Given the description of an element on the screen output the (x, y) to click on. 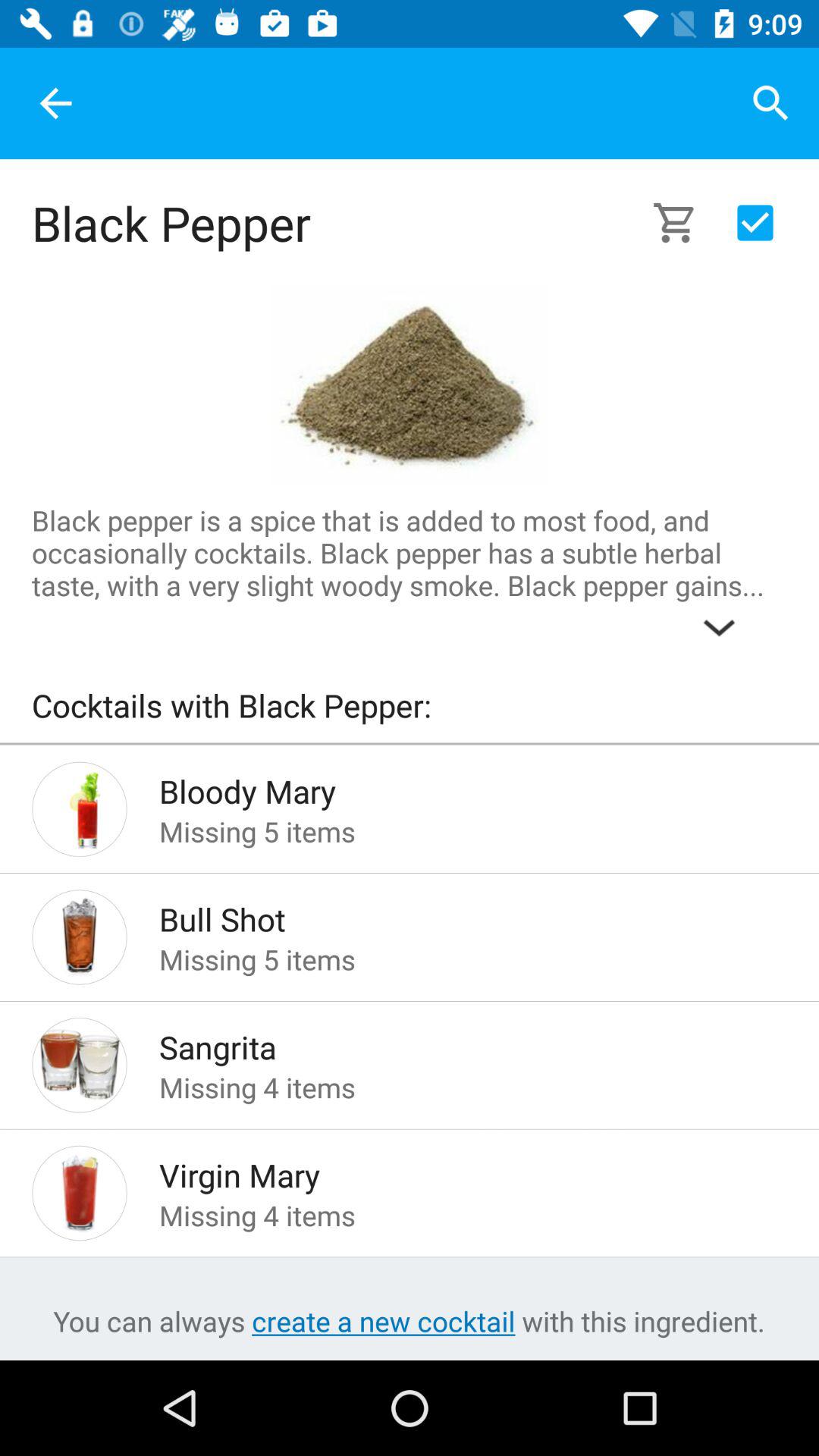
press the item above black pepper icon (55, 103)
